Given the description of an element on the screen output the (x, y) to click on. 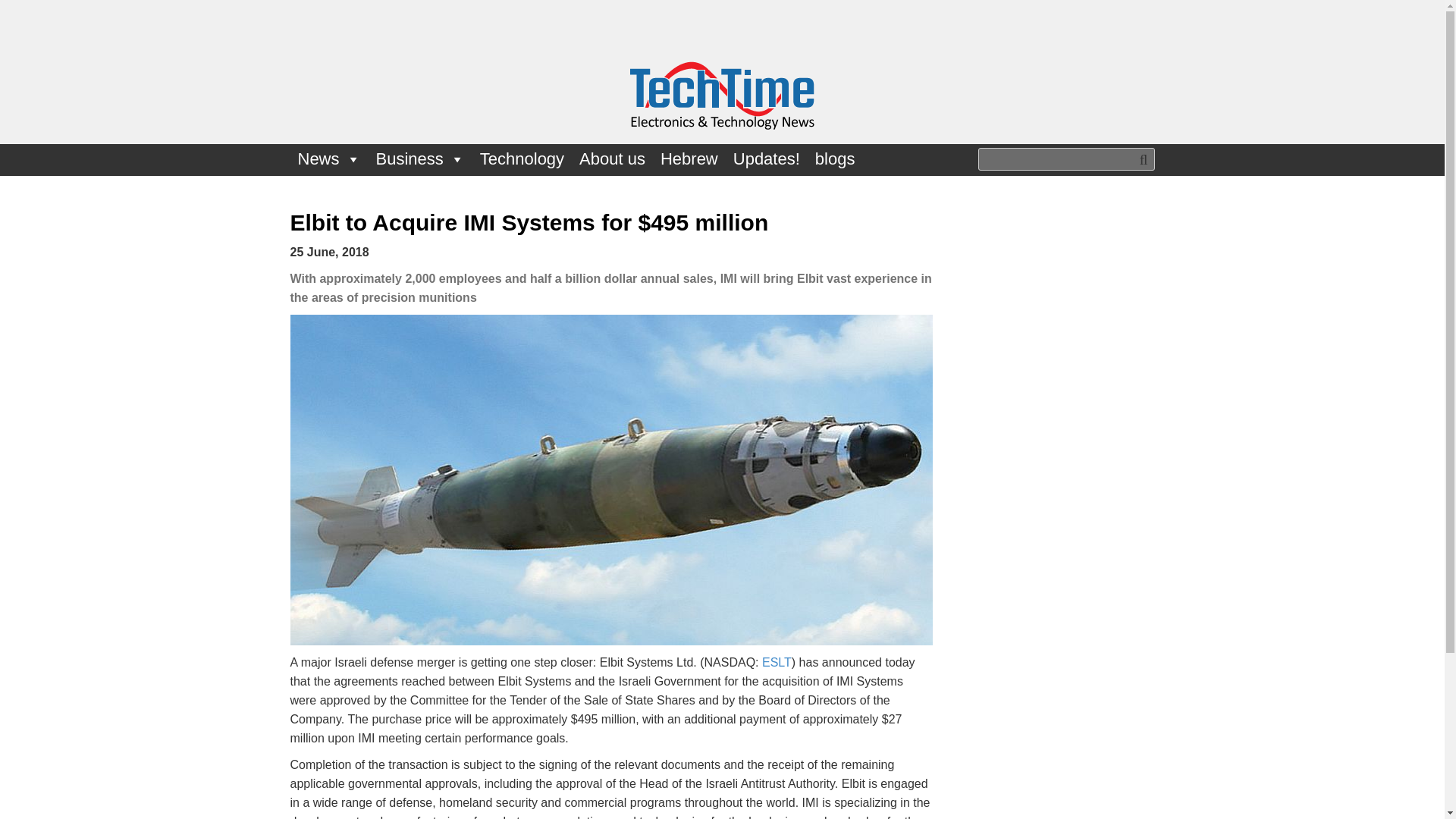
ESLT (776, 662)
blogs (835, 159)
Hebrew (688, 159)
News (328, 159)
Business (419, 159)
Updates! (766, 159)
Technology (521, 159)
About us (612, 159)
